Given the description of an element on the screen output the (x, y) to click on. 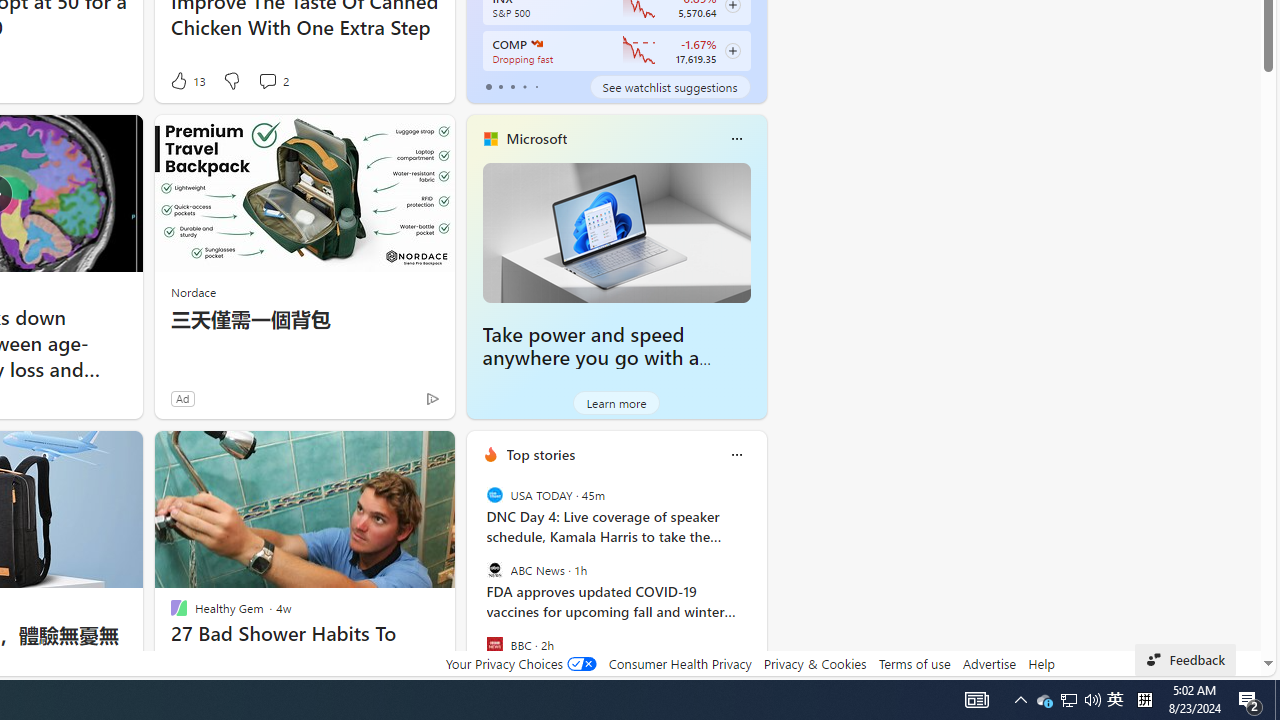
Feedback (1185, 659)
previous (476, 583)
See more (429, 454)
Take power and speed anywhere you go with a Windows laptop. (616, 232)
NASDAQ (535, 43)
Microsoft (536, 139)
Hide this story (393, 454)
Your Privacy Choices (520, 663)
BBC (494, 644)
tab-1 (500, 86)
More options (736, 454)
